Given the description of an element on the screen output the (x, y) to click on. 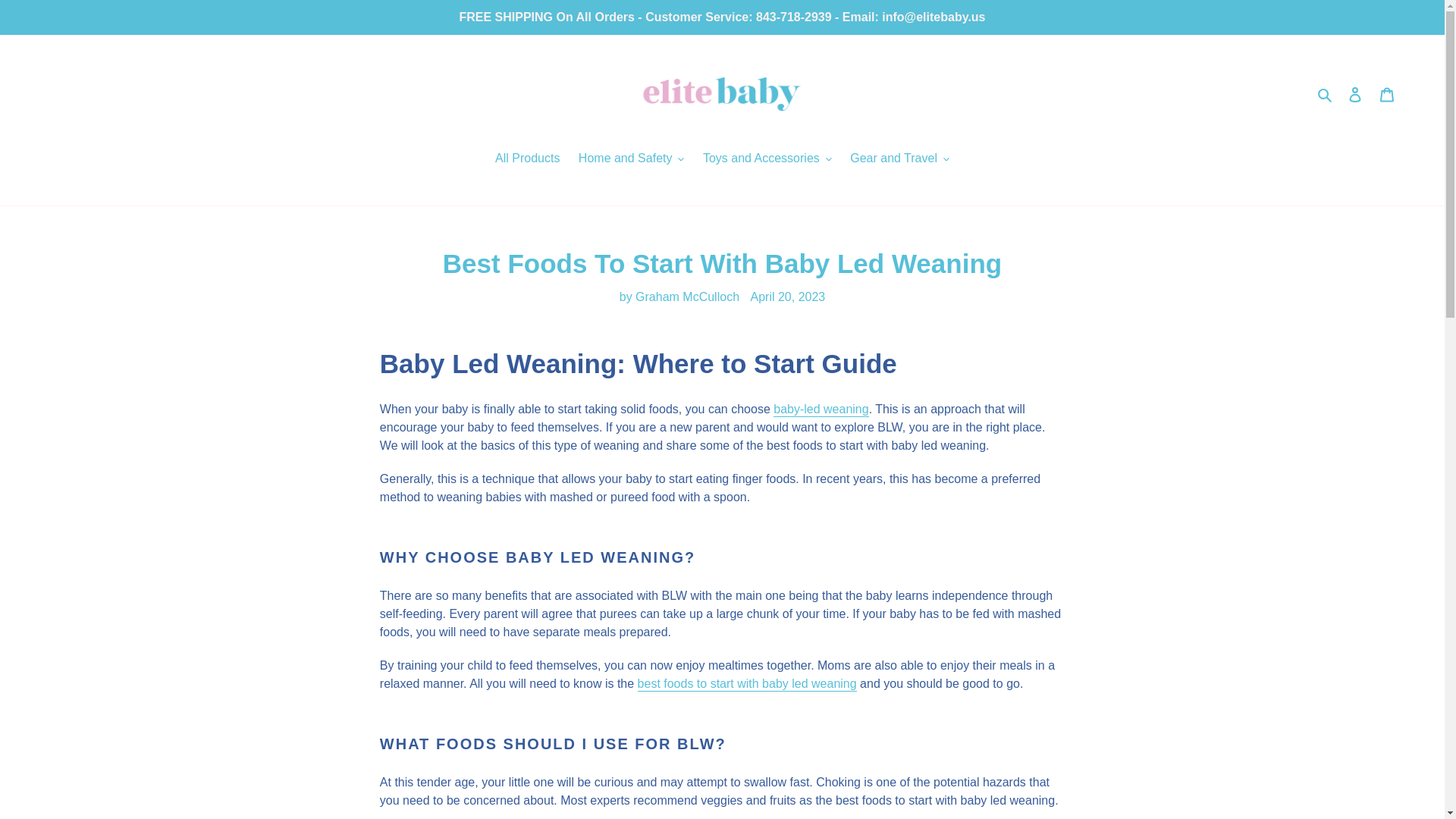
Log in (1355, 93)
Search (1326, 94)
Cart (1387, 93)
